Given the description of an element on the screen output the (x, y) to click on. 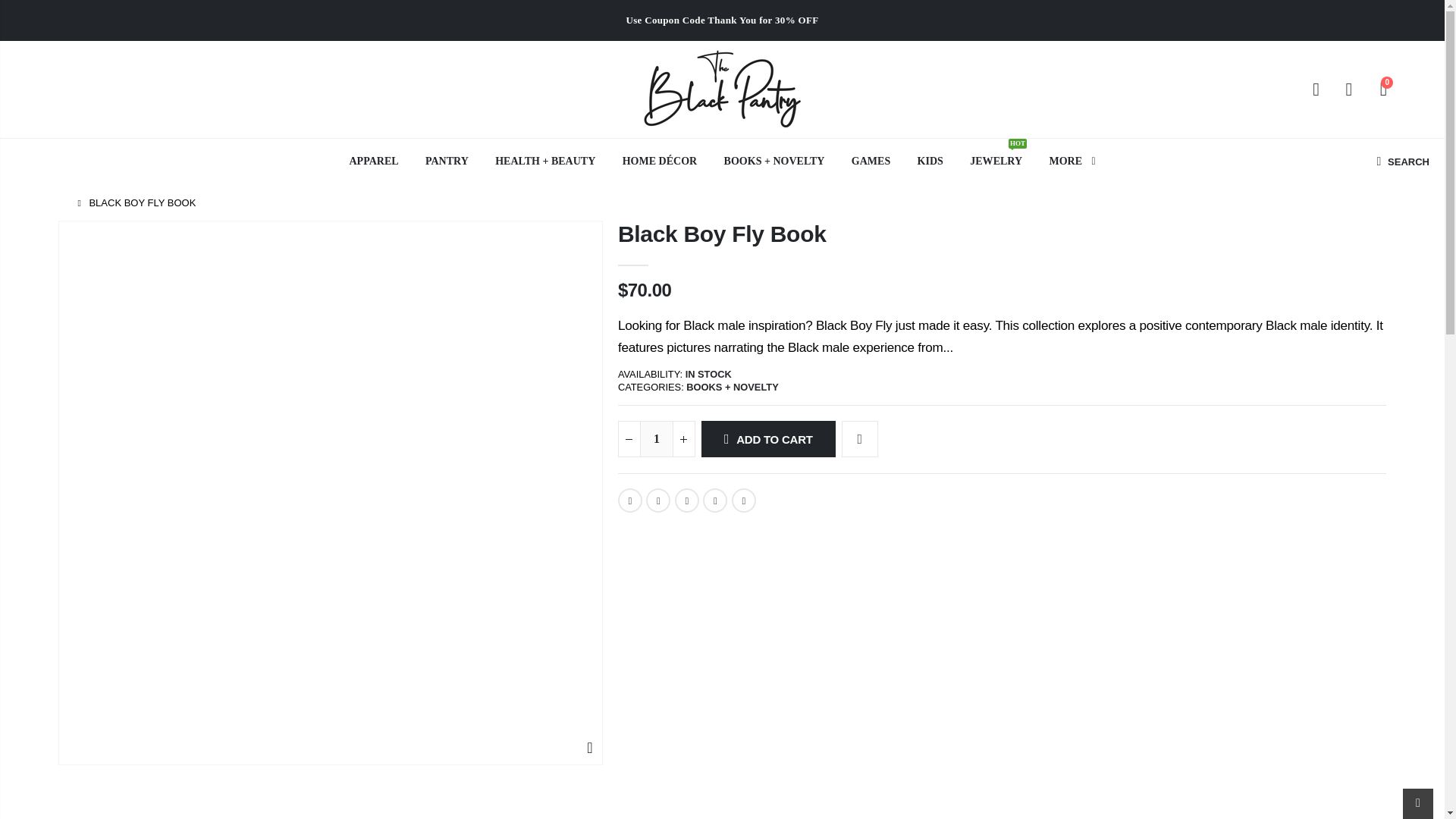
Black Boy Fly Book (629, 500)
SEARCH (1400, 161)
Black Boy Fly Book (686, 500)
KIDS (930, 161)
APPAREL (373, 161)
Black Boy Fly Book (743, 500)
Black Boy Fly Book (714, 500)
1 (656, 438)
MORE (1071, 161)
